Given the description of an element on the screen output the (x, y) to click on. 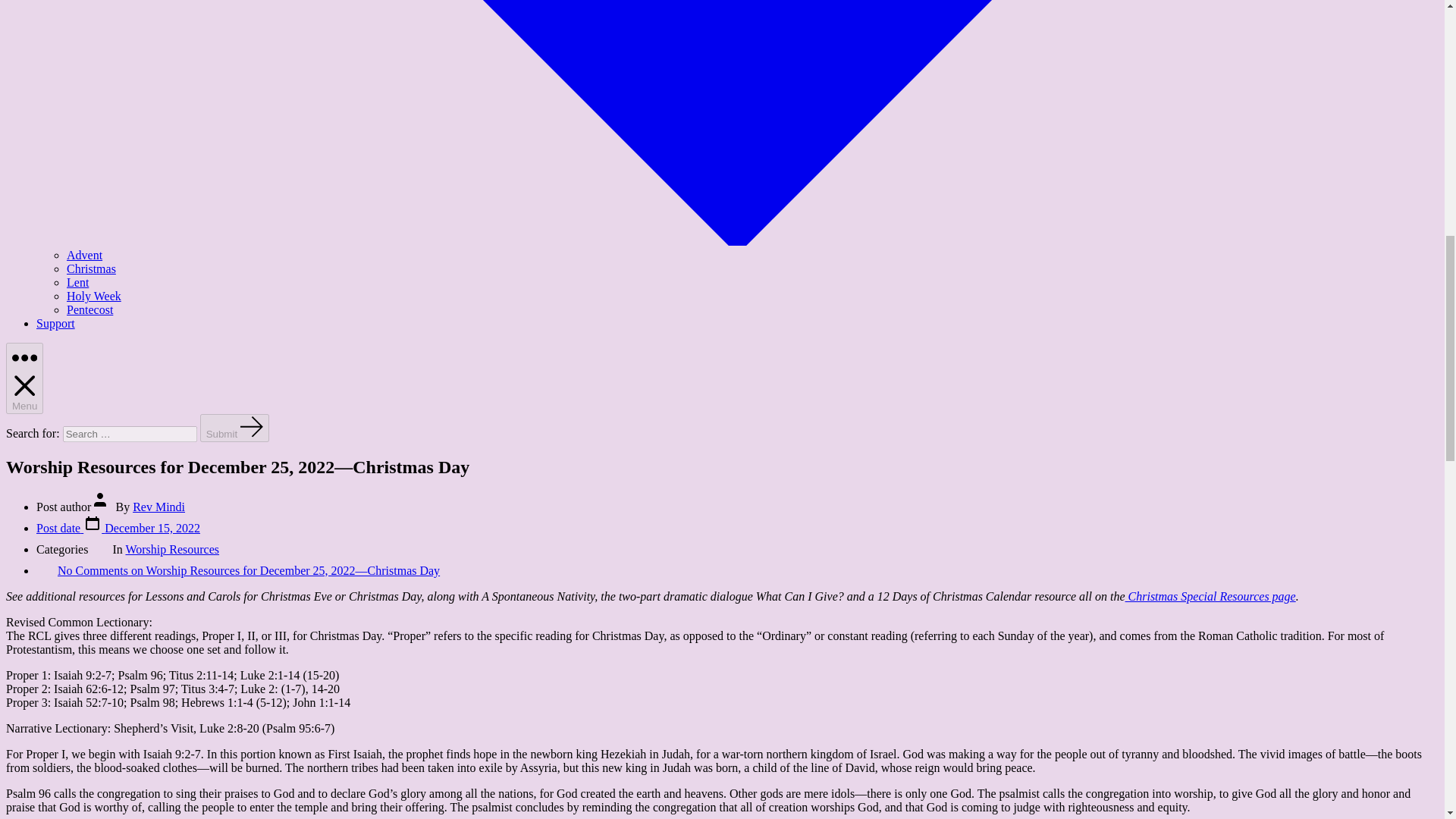
Lent (77, 282)
Rev Mindi (158, 506)
Support (55, 323)
Pentecost (89, 309)
Worship Resources (172, 549)
Post date December 15, 2022 (118, 527)
Christmas Special Resources page (1210, 595)
Christmas (91, 268)
Submit (234, 428)
Advent (83, 254)
